Given the description of an element on the screen output the (x, y) to click on. 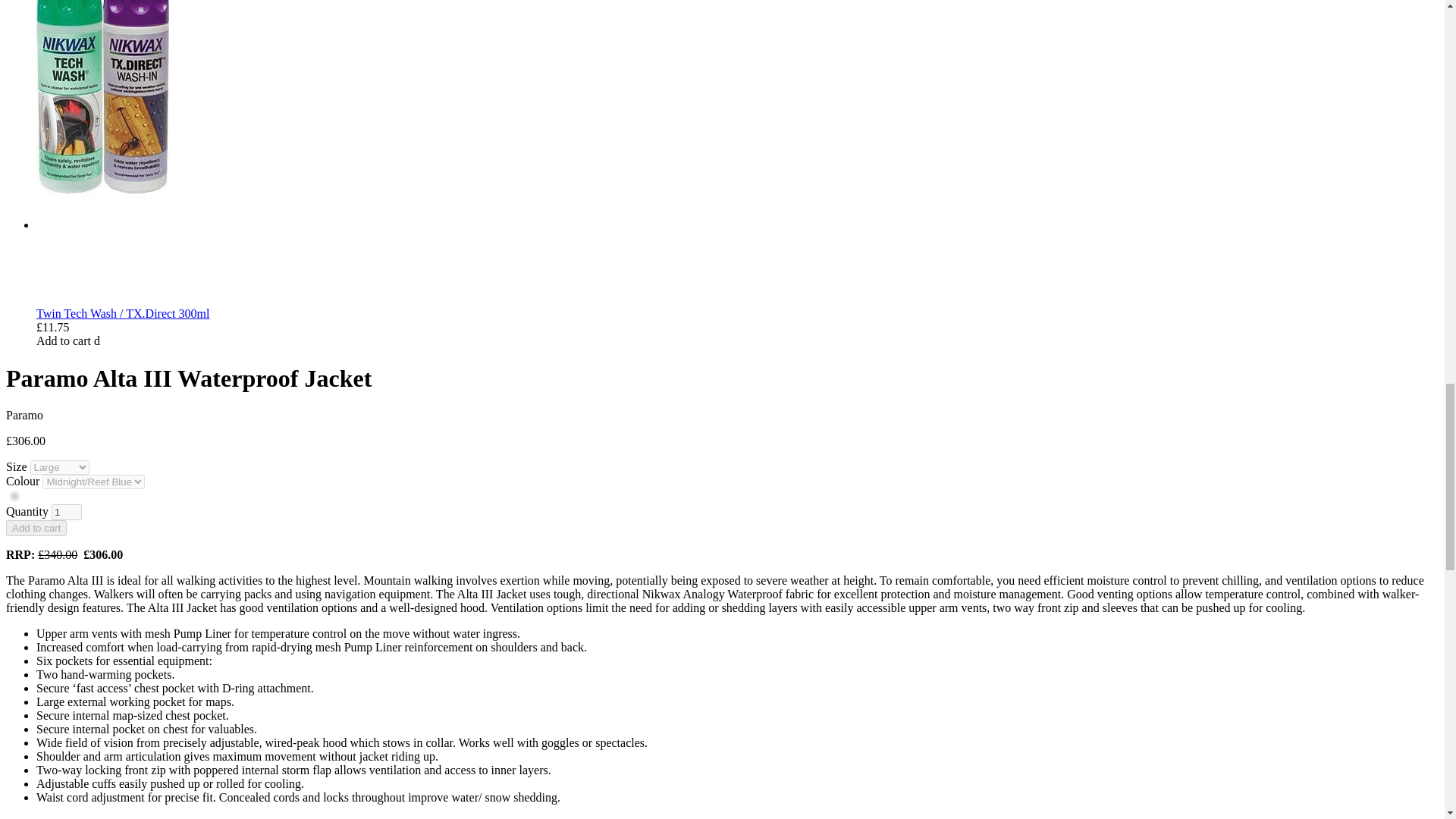
Add to cart (35, 528)
oneOff (15, 496)
1 (65, 512)
Add to cart d (68, 340)
